Given the description of an element on the screen output the (x, y) to click on. 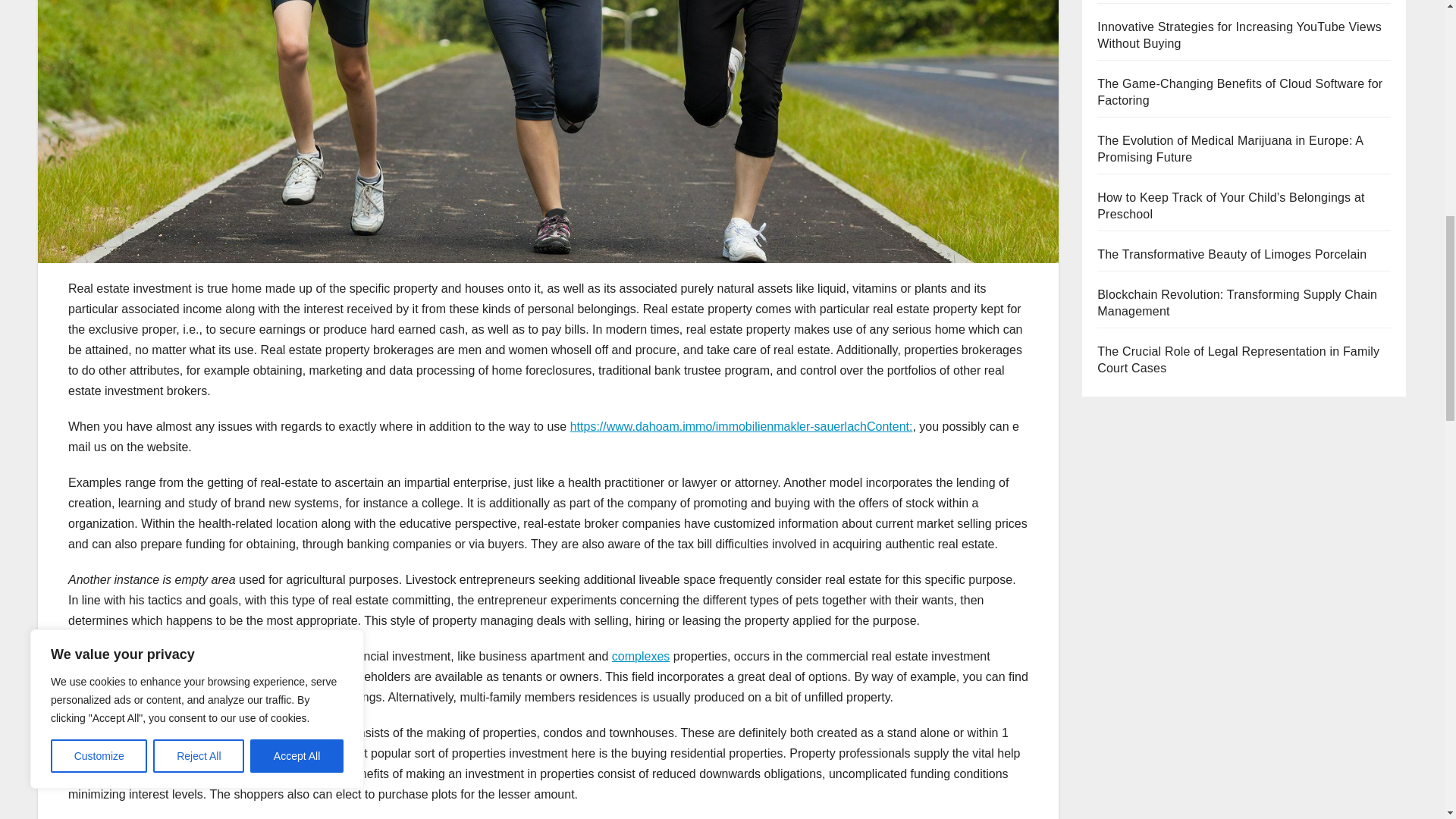
complexes (640, 656)
